Given the description of an element on the screen output the (x, y) to click on. 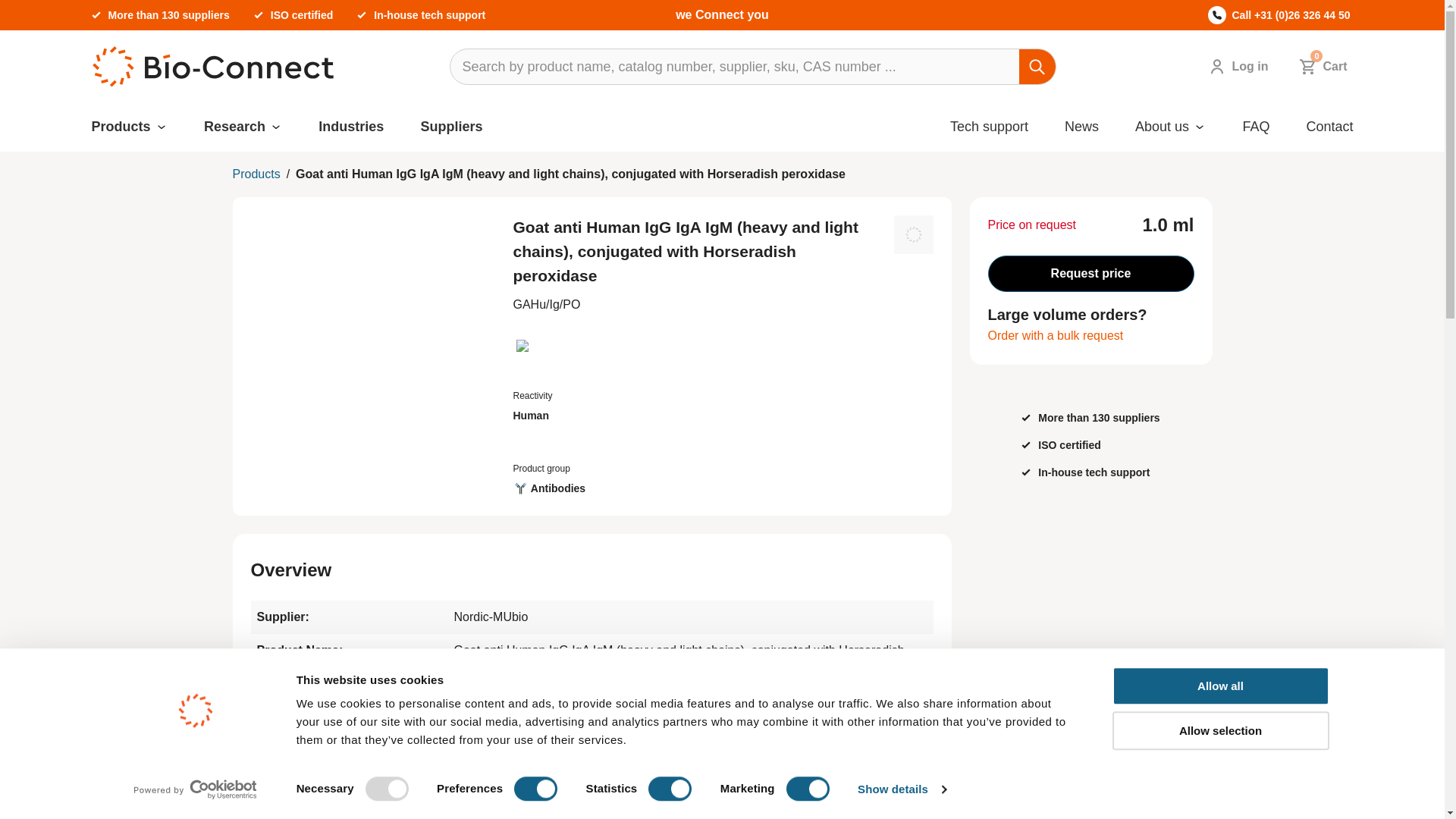
Show details (900, 789)
Bio-Connect (211, 66)
